Given the description of an element on the screen output the (x, y) to click on. 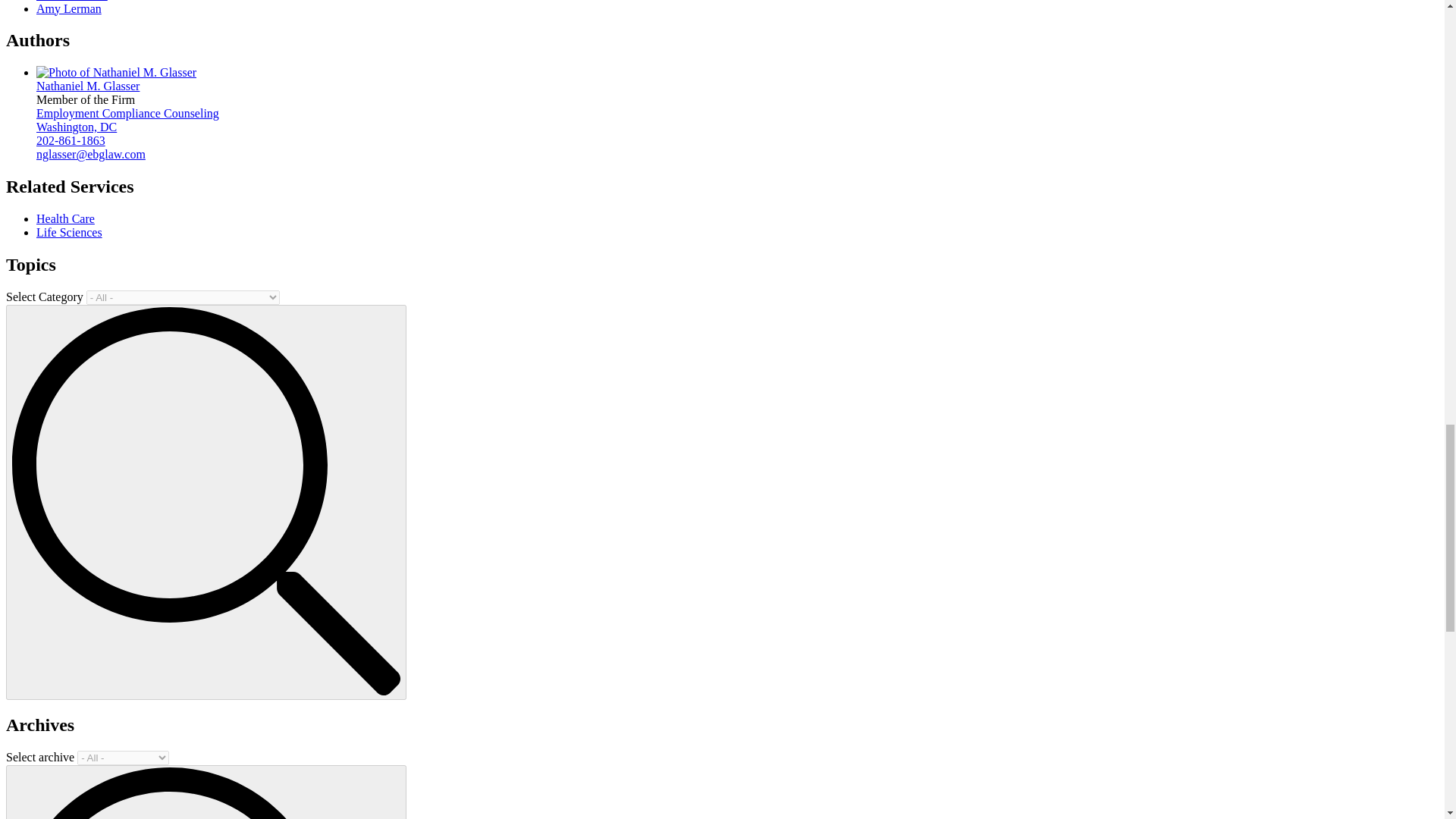
Nathaniel M. Glasser (87, 85)
Alan J. Arville (71, 0)
Amy Lerman (68, 7)
Search (205, 793)
